Given the description of an element on the screen output the (x, y) to click on. 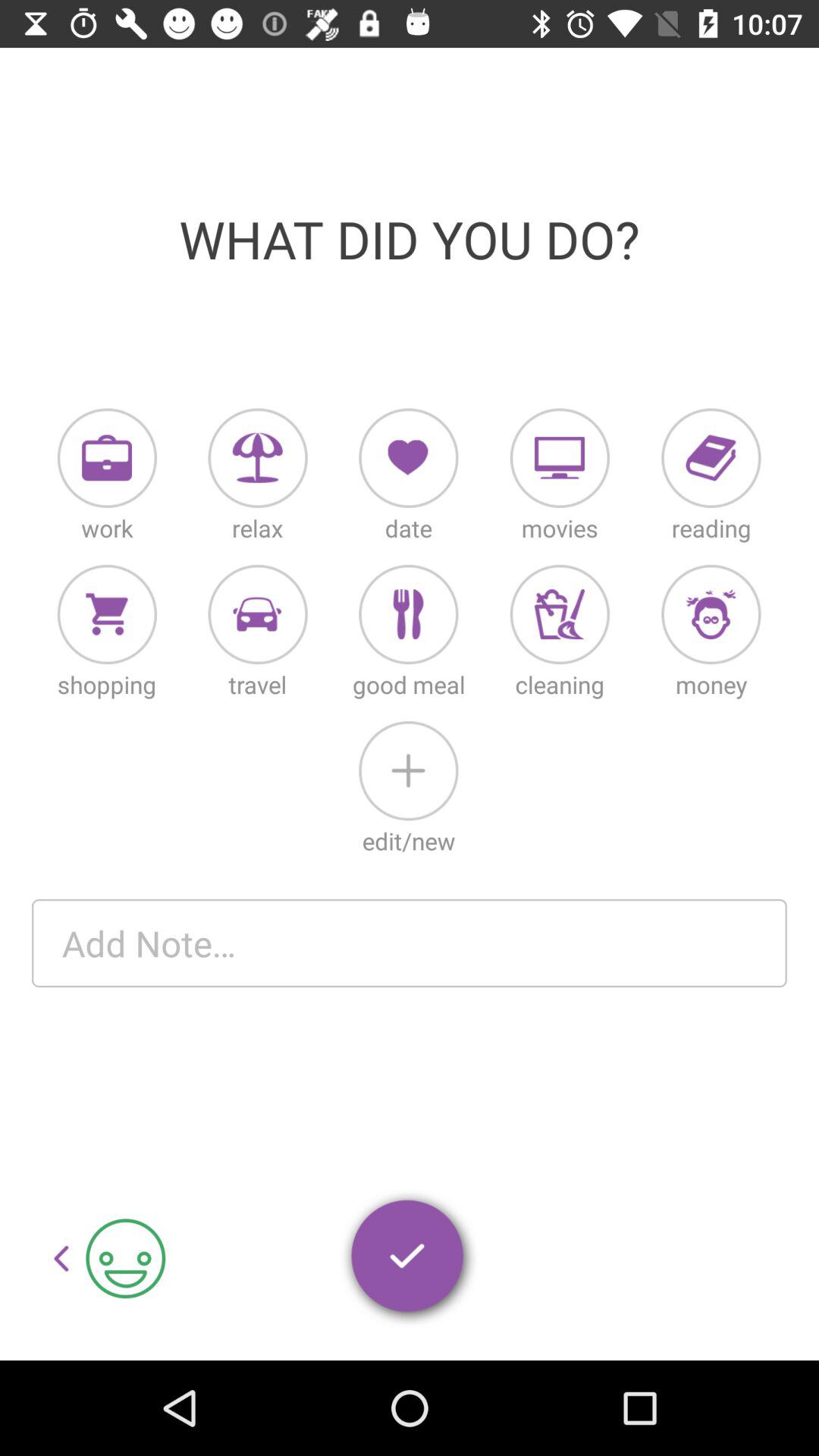
get driving directions to the place (257, 614)
